Given the description of an element on the screen output the (x, y) to click on. 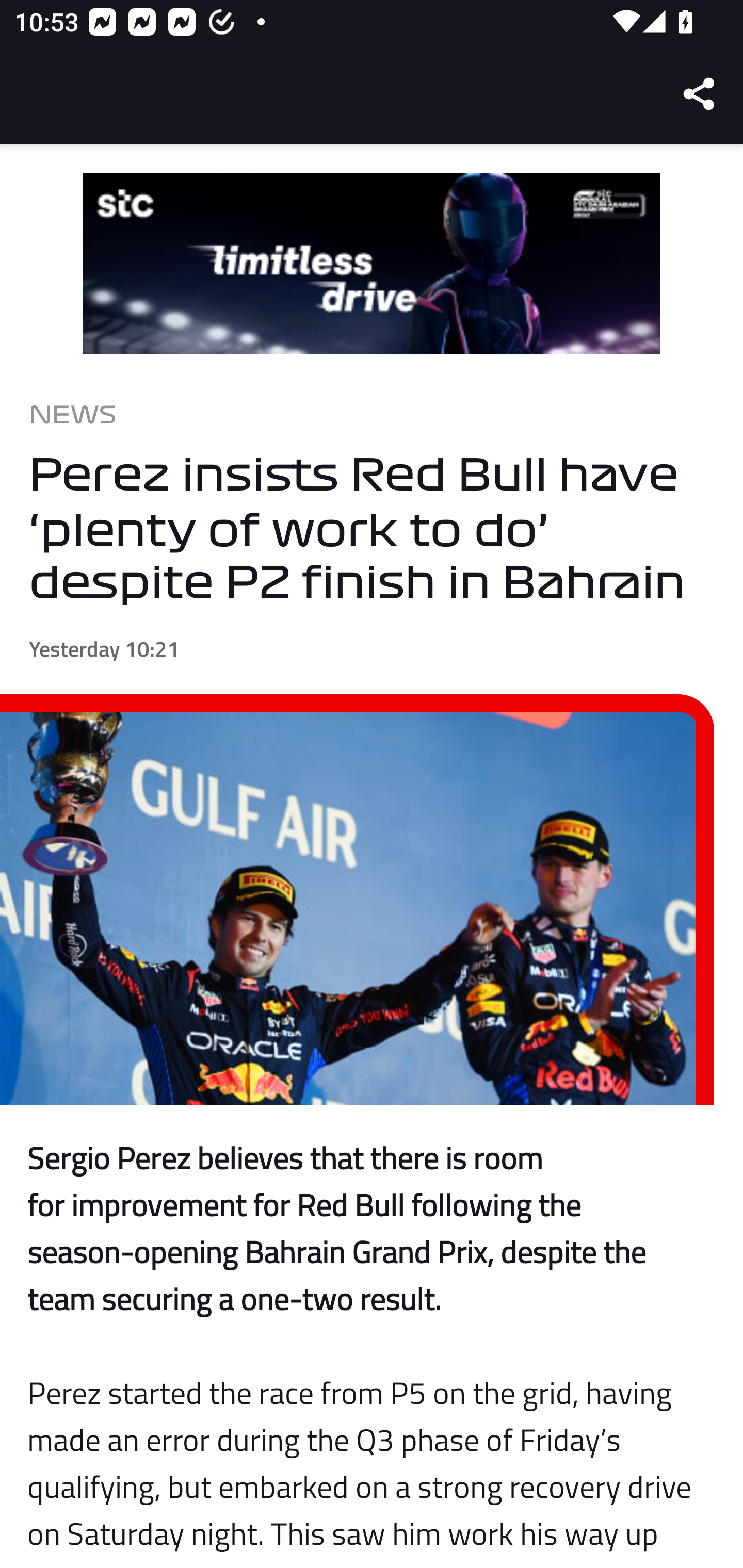
Share (699, 93)
who-we-are (371, 264)
